Given the description of an element on the screen output the (x, y) to click on. 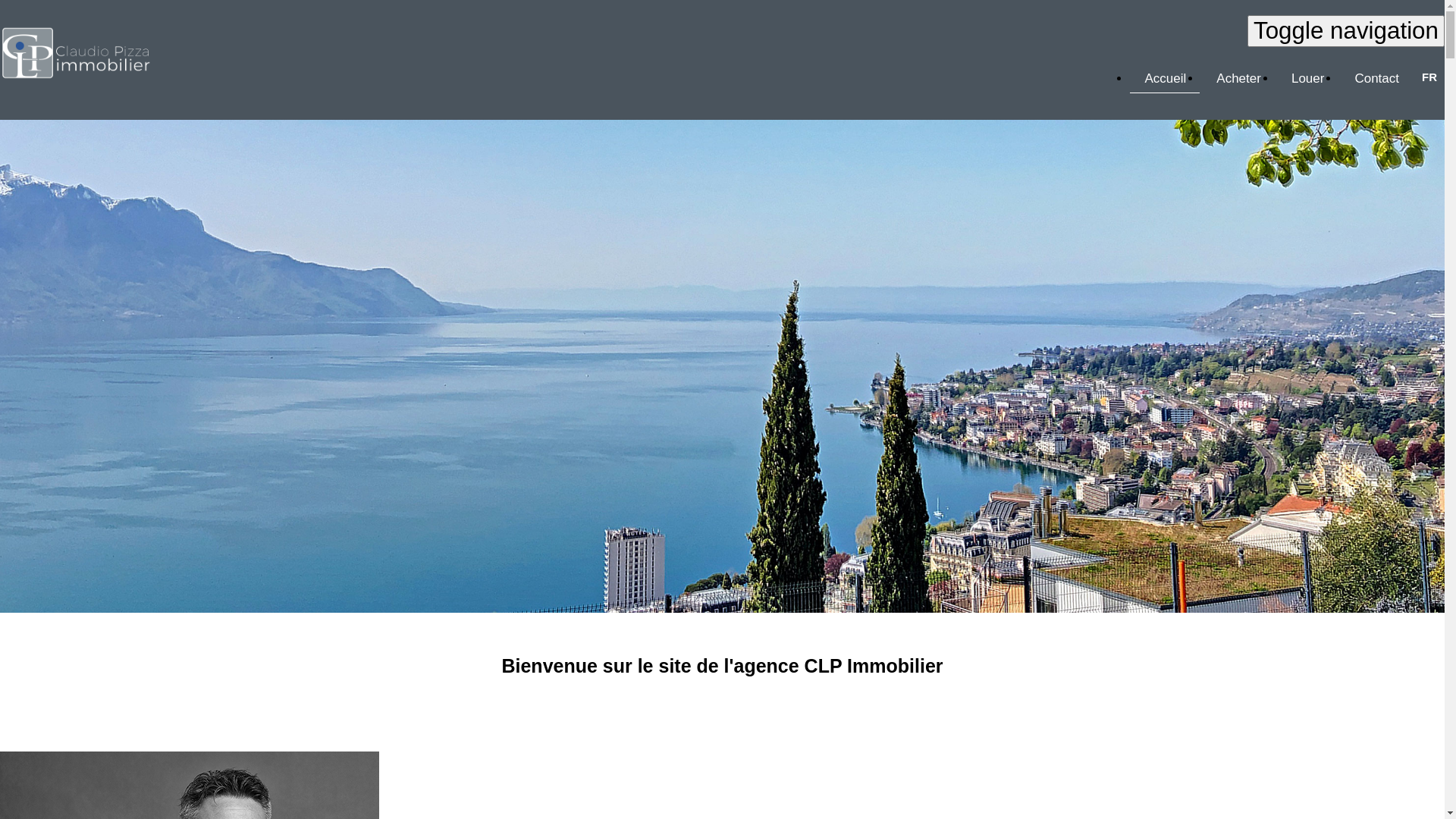
FR Element type: text (1429, 83)
Contact Element type: text (1375, 75)
Acheter Element type: text (1237, 75)
Toggle navigation Element type: text (1345, 31)
Accueil Element type: text (1164, 75)
Louer Element type: text (1306, 75)
